Given the description of an element on the screen output the (x, y) to click on. 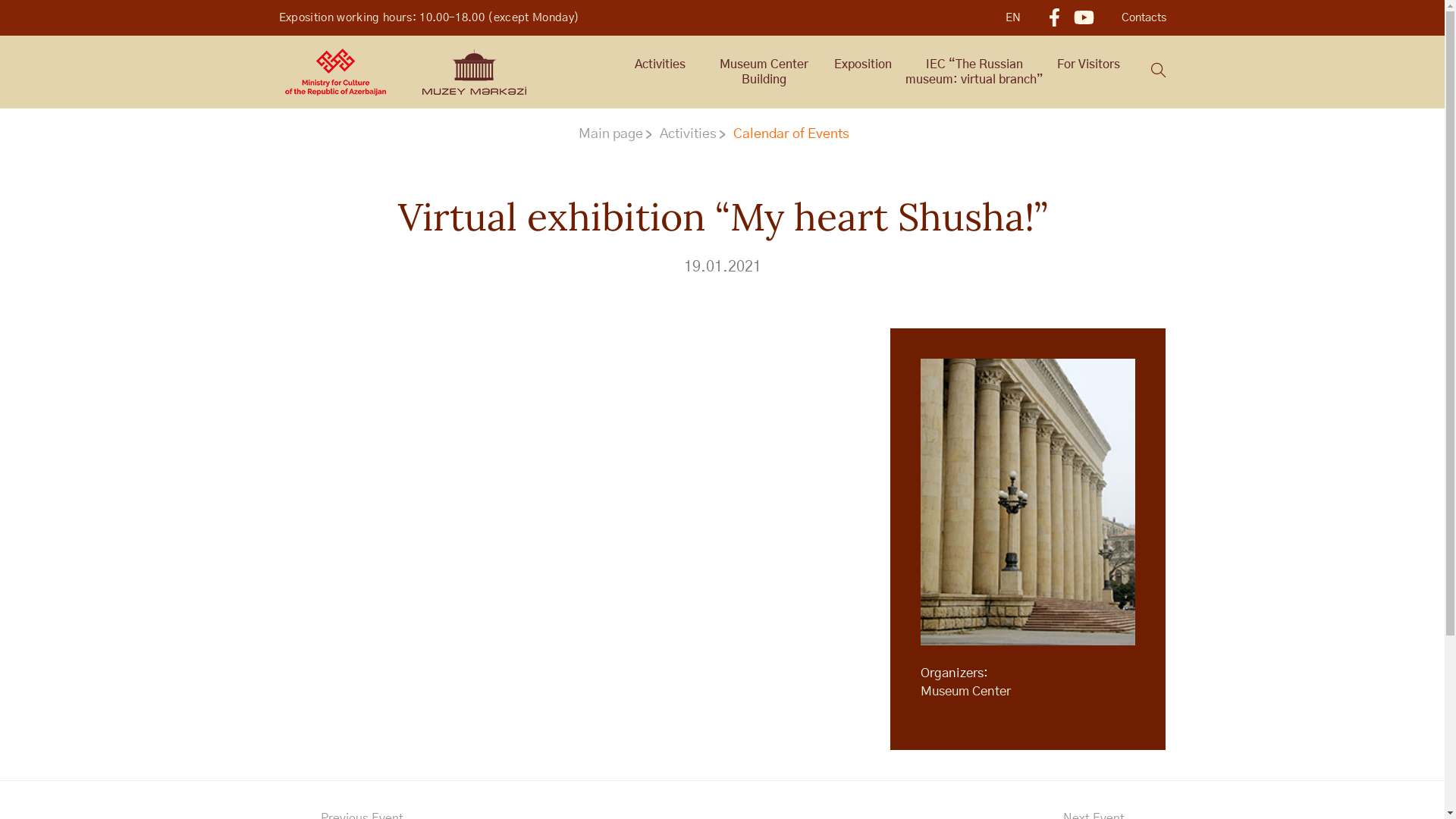
Contacts Element type: text (1142, 17)
s Element type: text (1158, 71)
Calendar of Events Element type: text (795, 134)
Ministry for Culture of the Republic of Azerbaijan Element type: hover (335, 71)
For Visitors Element type: text (1087, 64)
Activities Element type: text (658, 64)
Activities
> Element type: text (692, 134)
Exposition Element type: text (862, 64)
Main page
> Element type: text (615, 134)
Museum Center Building Element type: text (763, 71)
